Given the description of an element on the screen output the (x, y) to click on. 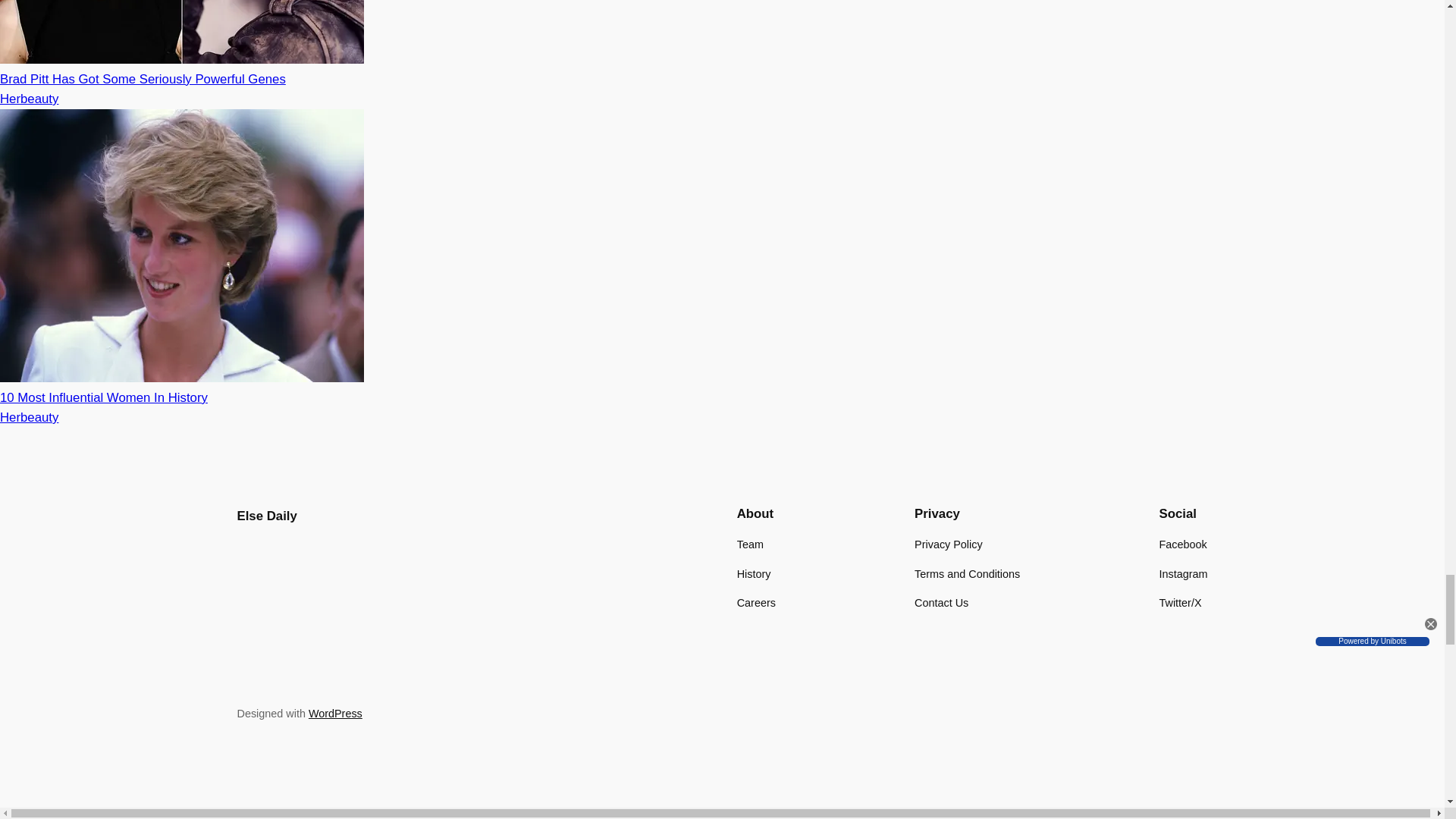
History (753, 573)
Privacy Policy (948, 544)
Contact Us (941, 602)
Team (749, 544)
Careers (756, 602)
Else Daily (266, 515)
Facebook (1182, 544)
WordPress (335, 713)
Instagram (1182, 573)
Terms and Conditions (967, 573)
